Given the description of an element on the screen output the (x, y) to click on. 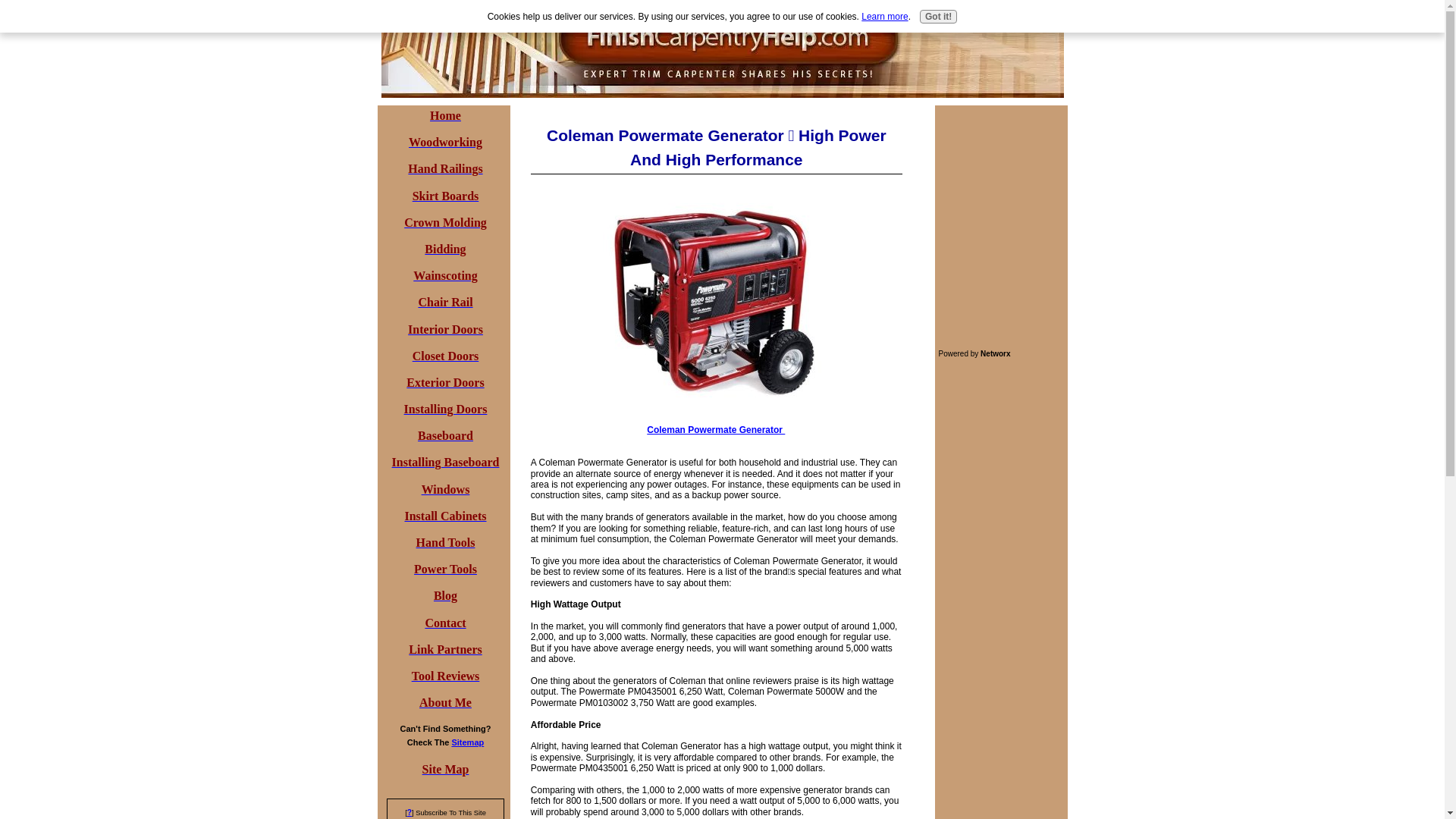
Hand Tools (446, 542)
Skirt Boards (445, 196)
Networx (994, 353)
Closet Doors (445, 356)
Sitemap (467, 741)
Link Partners (445, 650)
Installing Baseboard (445, 462)
Coleman Powermate Generator (715, 429)
Wainscoting (445, 276)
Contact (445, 623)
About Me (445, 703)
Chair Rail (444, 302)
Power Tools (445, 569)
Interior Doors (445, 329)
Woodworking (445, 143)
